Given the description of an element on the screen output the (x, y) to click on. 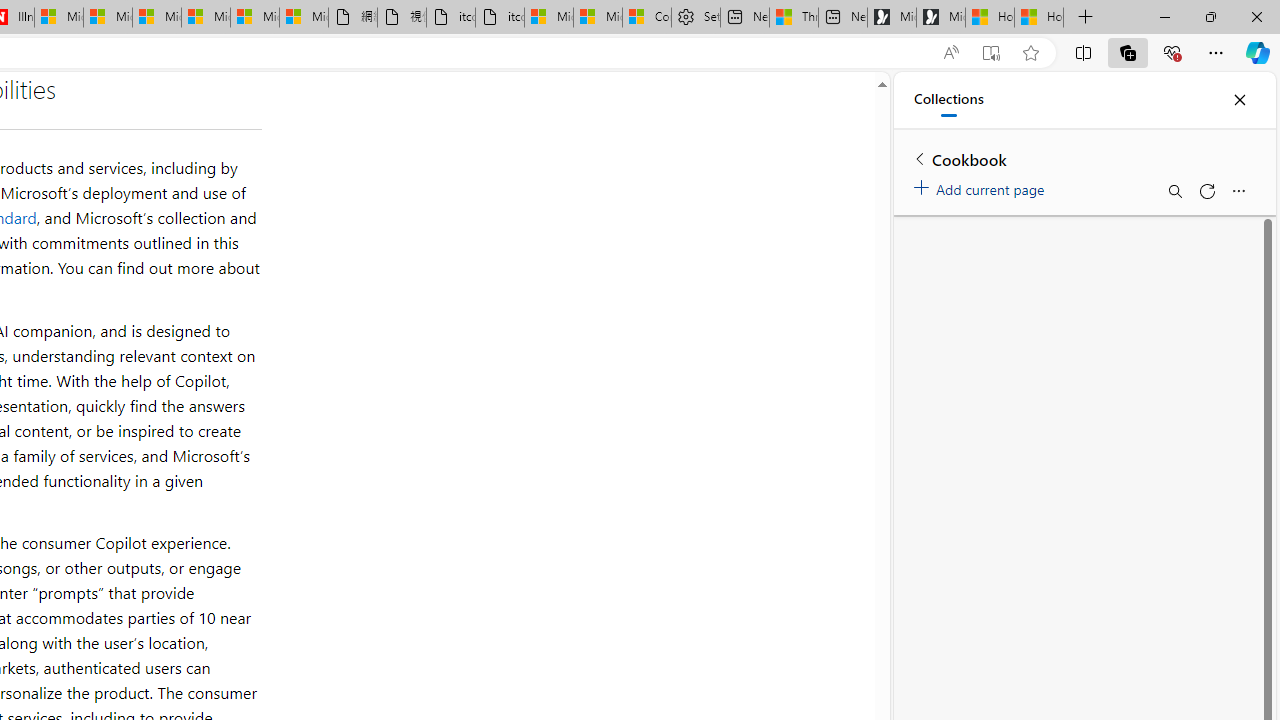
More options menu (1238, 190)
Back to list of collections (920, 158)
